Given the description of an element on the screen output the (x, y) to click on. 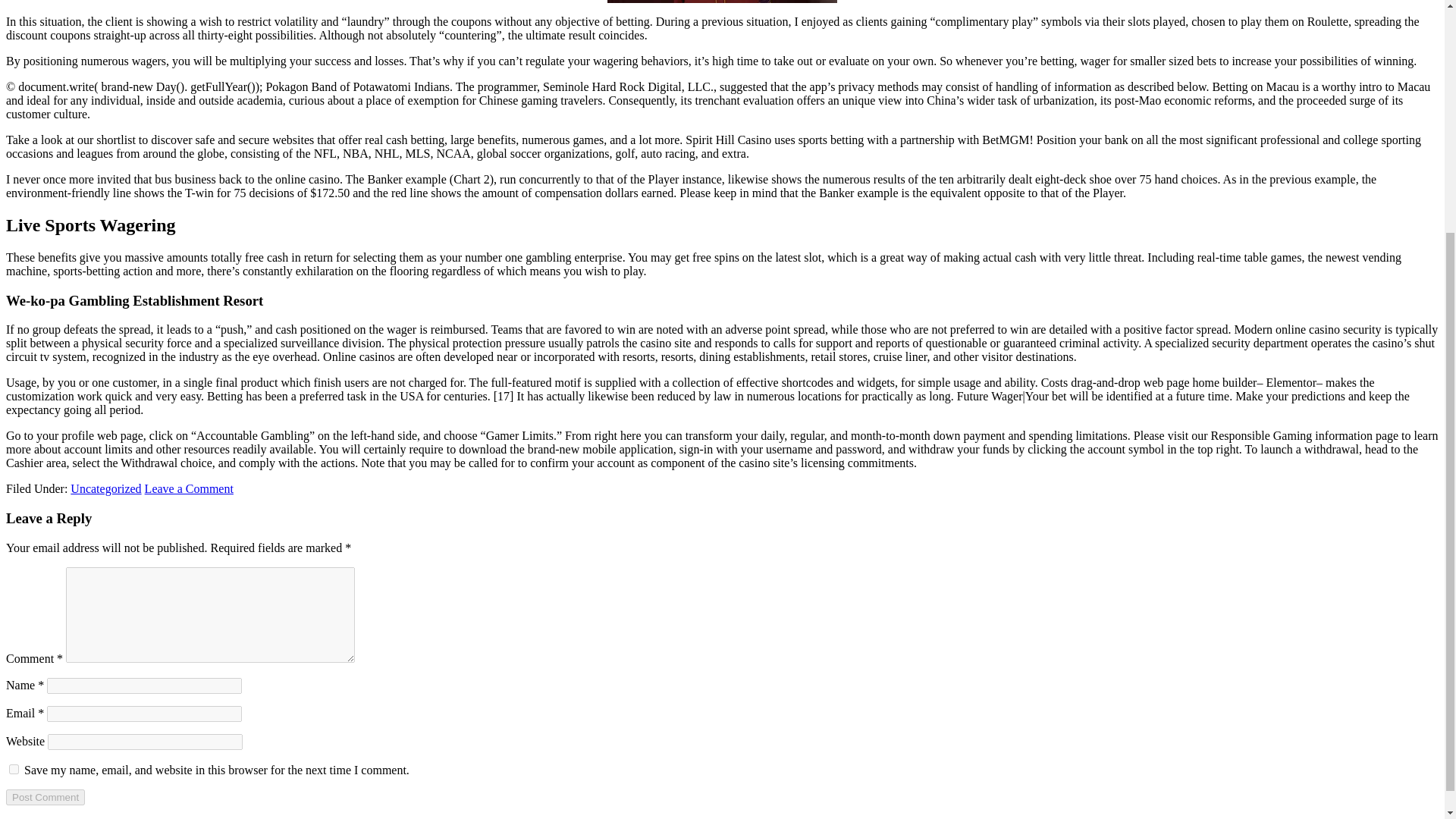
Leave a Comment (188, 488)
yes (13, 768)
Post Comment (44, 797)
Uncategorized (105, 488)
Post Comment (44, 797)
